Given the description of an element on the screen output the (x, y) to click on. 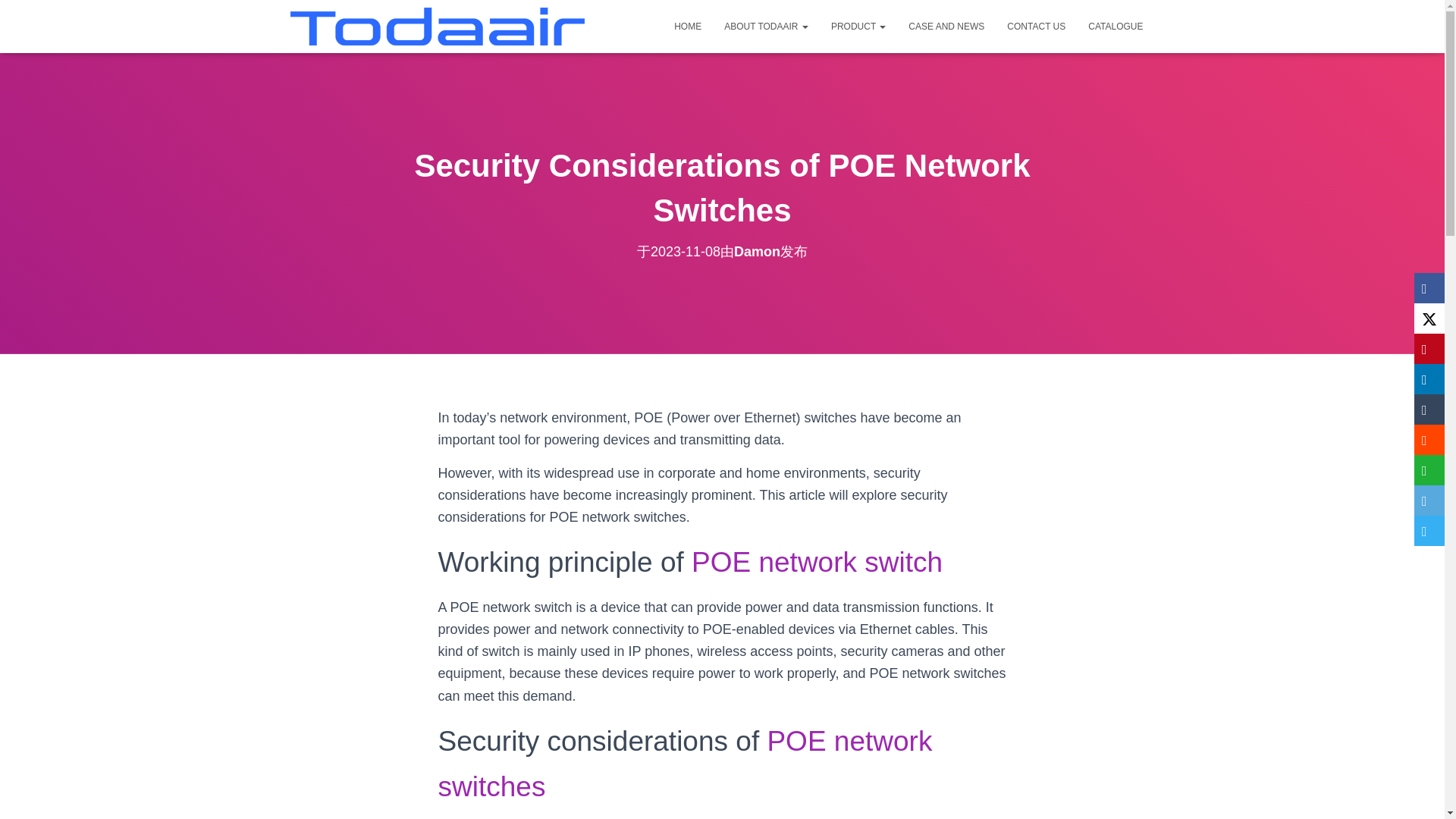
Todaair (437, 26)
PRODUCT (857, 26)
CONTACT US (1036, 26)
HOME (687, 26)
Catalogue (1115, 26)
ABOUT TODAAIR (766, 26)
About Todaair (766, 26)
CONTACT US (1036, 26)
Damon (756, 251)
CASE AND NEWS (945, 26)
